Given the description of an element on the screen output the (x, y) to click on. 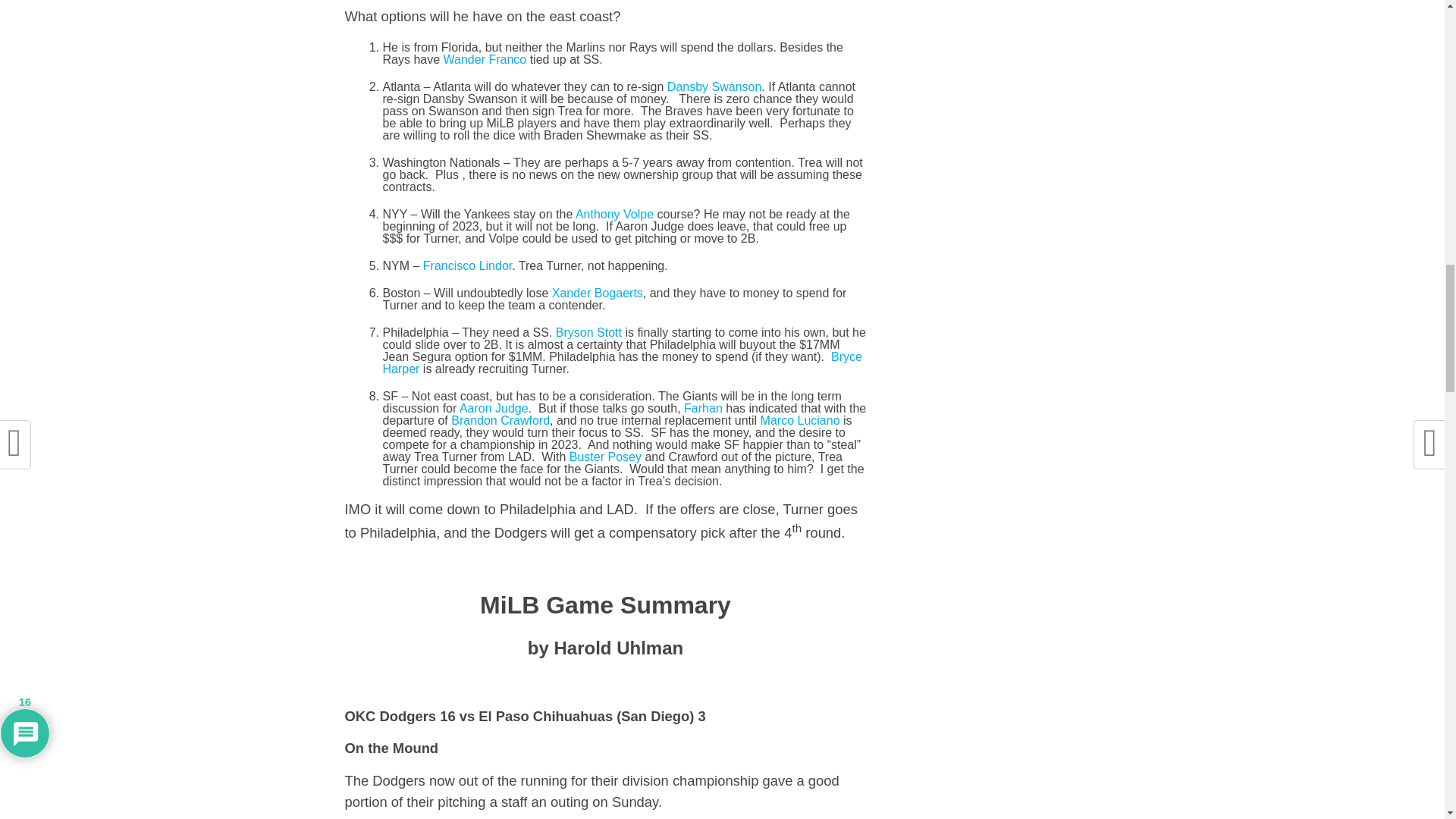
Francisco Lindor (467, 265)
Wander Franco (485, 59)
Dansby Swanson (713, 86)
Anthony Volpe (614, 214)
